Given the description of an element on the screen output the (x, y) to click on. 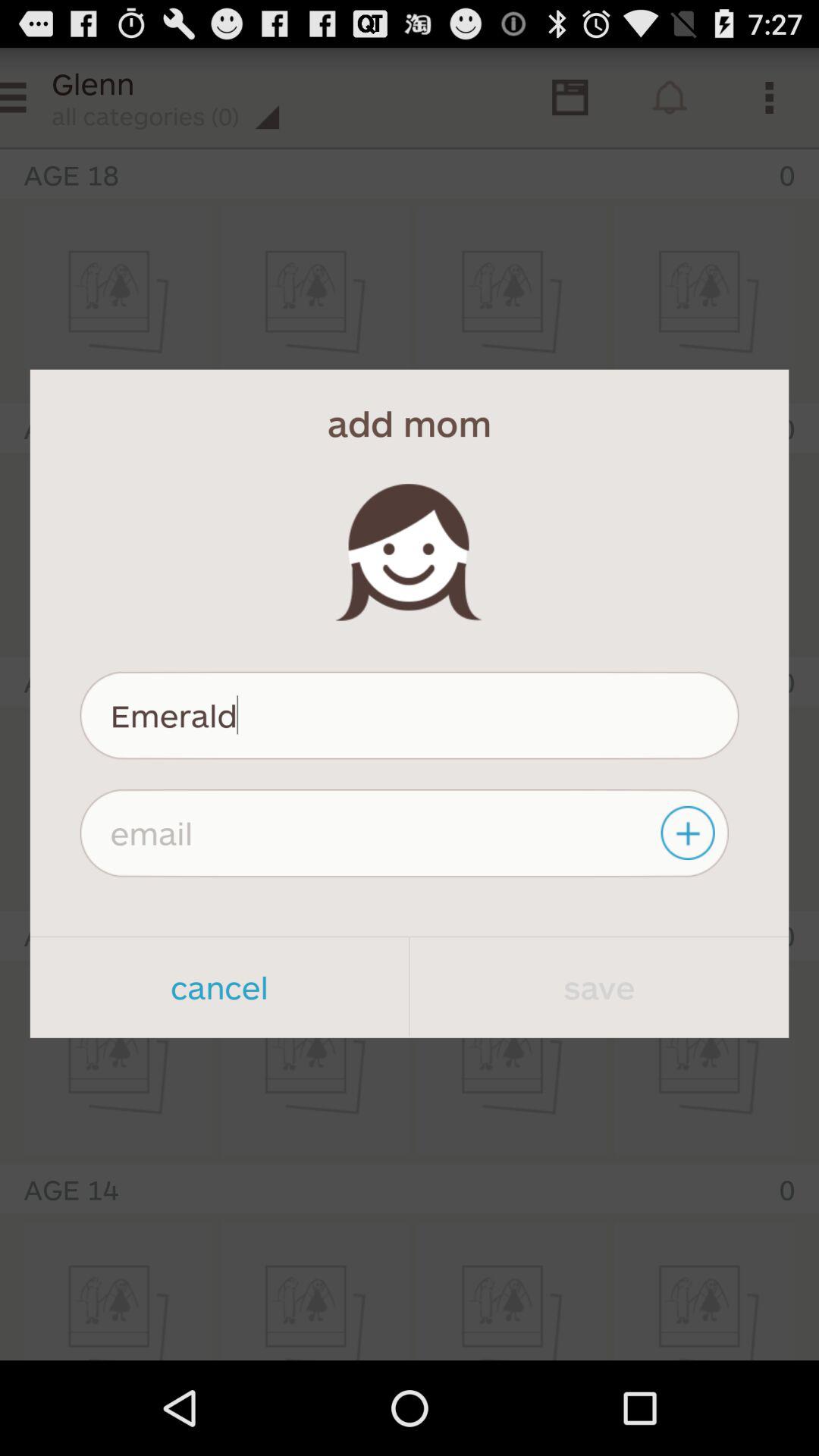
open the item below emerald item (689, 832)
